Given the description of an element on the screen output the (x, y) to click on. 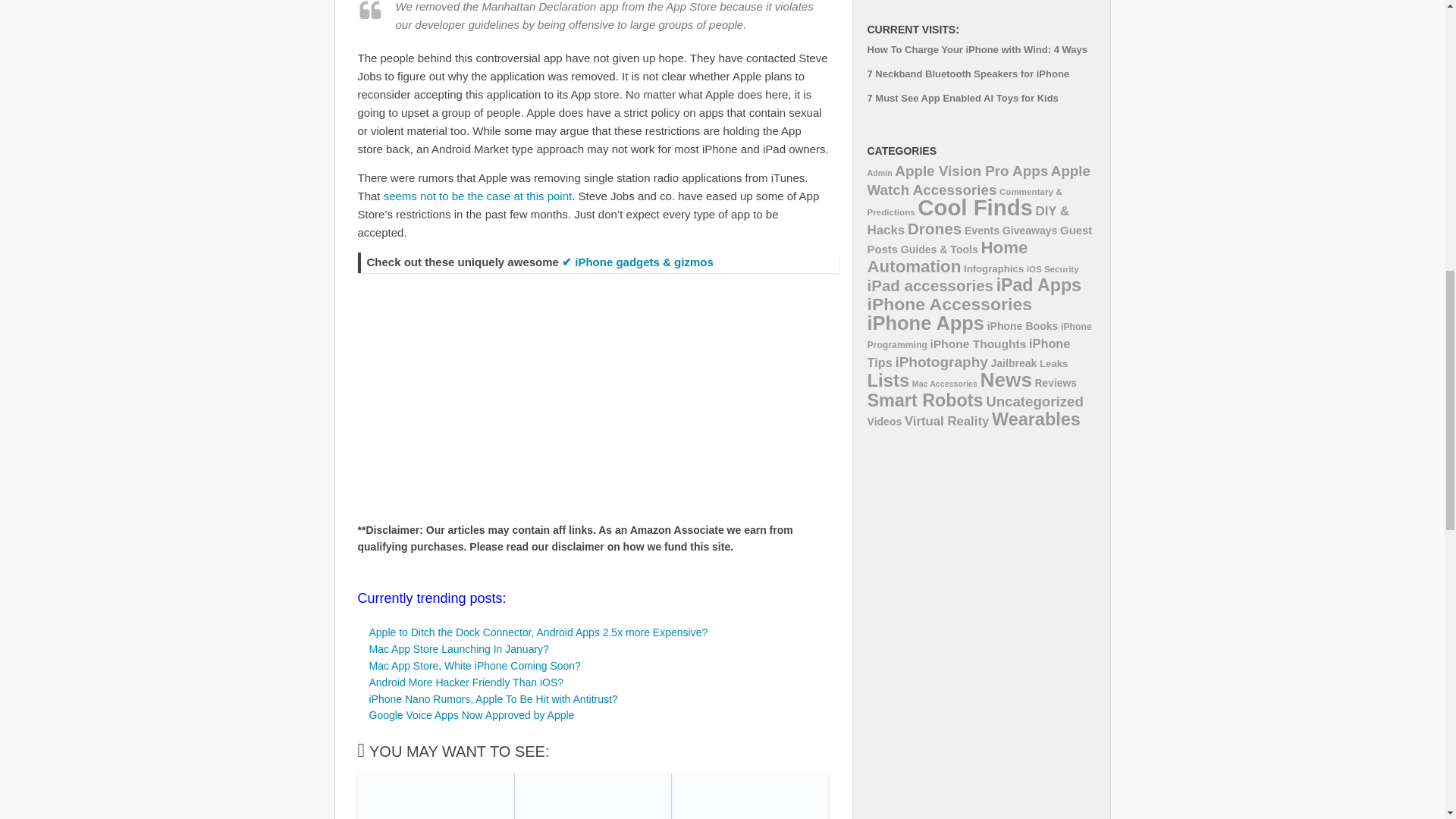
Android More Hacker Friendly Than iOS? (465, 682)
iPhone Nano Rumors, Apple To Be Hit with Antitrust? (492, 698)
Mac App Store, White iPhone Coming Soon? (473, 665)
Mac App Store Launching In January? (458, 648)
Google Voice Apps Now Approved by Apple (470, 715)
